Given the description of an element on the screen output the (x, y) to click on. 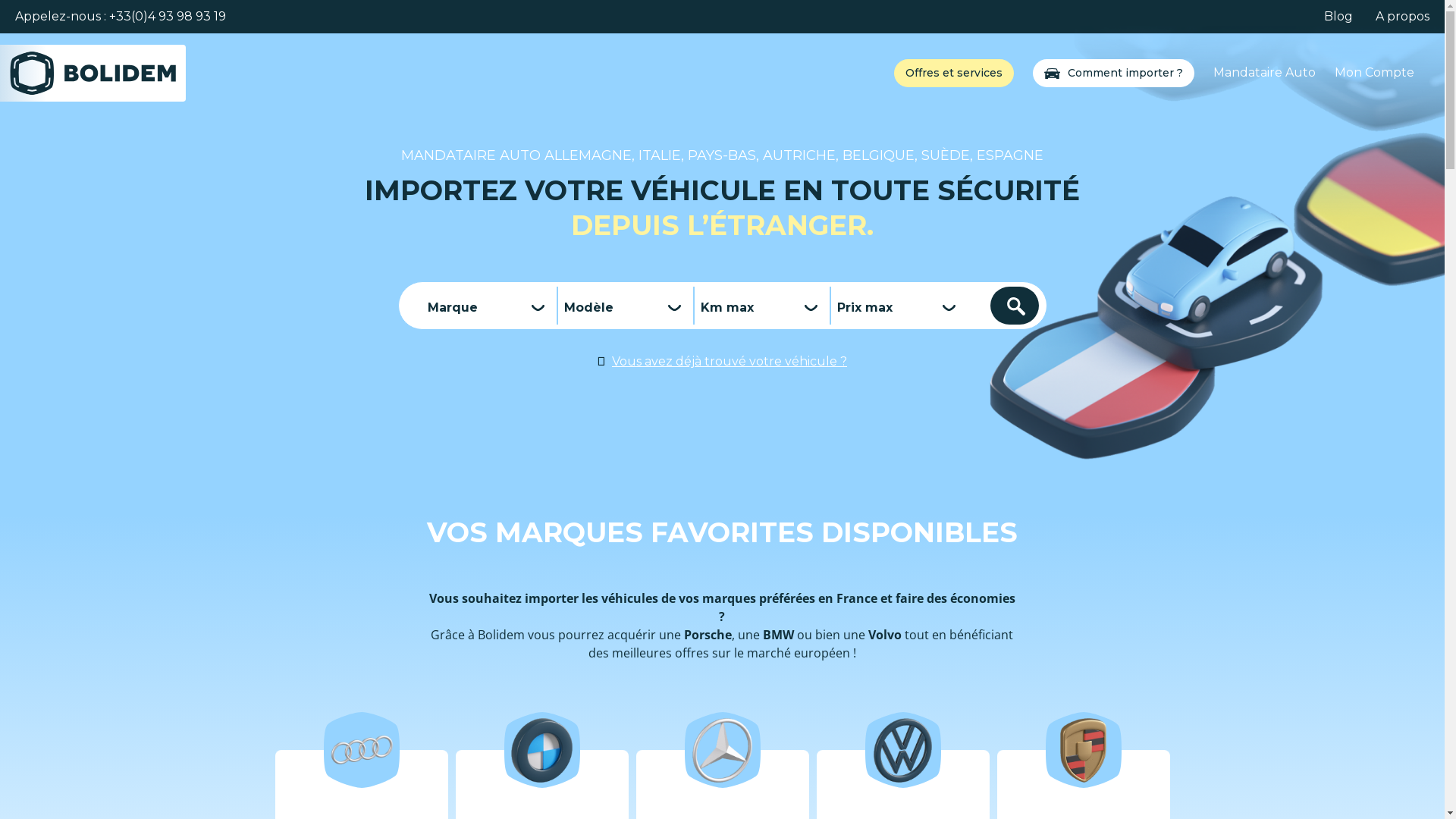
Mon Compte Element type: text (1374, 72)
Rechercher Element type: text (1014, 305)
A propos Element type: text (1402, 16)
Comment importer ? Element type: text (1125, 73)
Mandataire Auto Element type: text (1264, 72)
Blog Element type: text (1338, 16)
Offres et services Element type: text (953, 72)
